Given the description of an element on the screen output the (x, y) to click on. 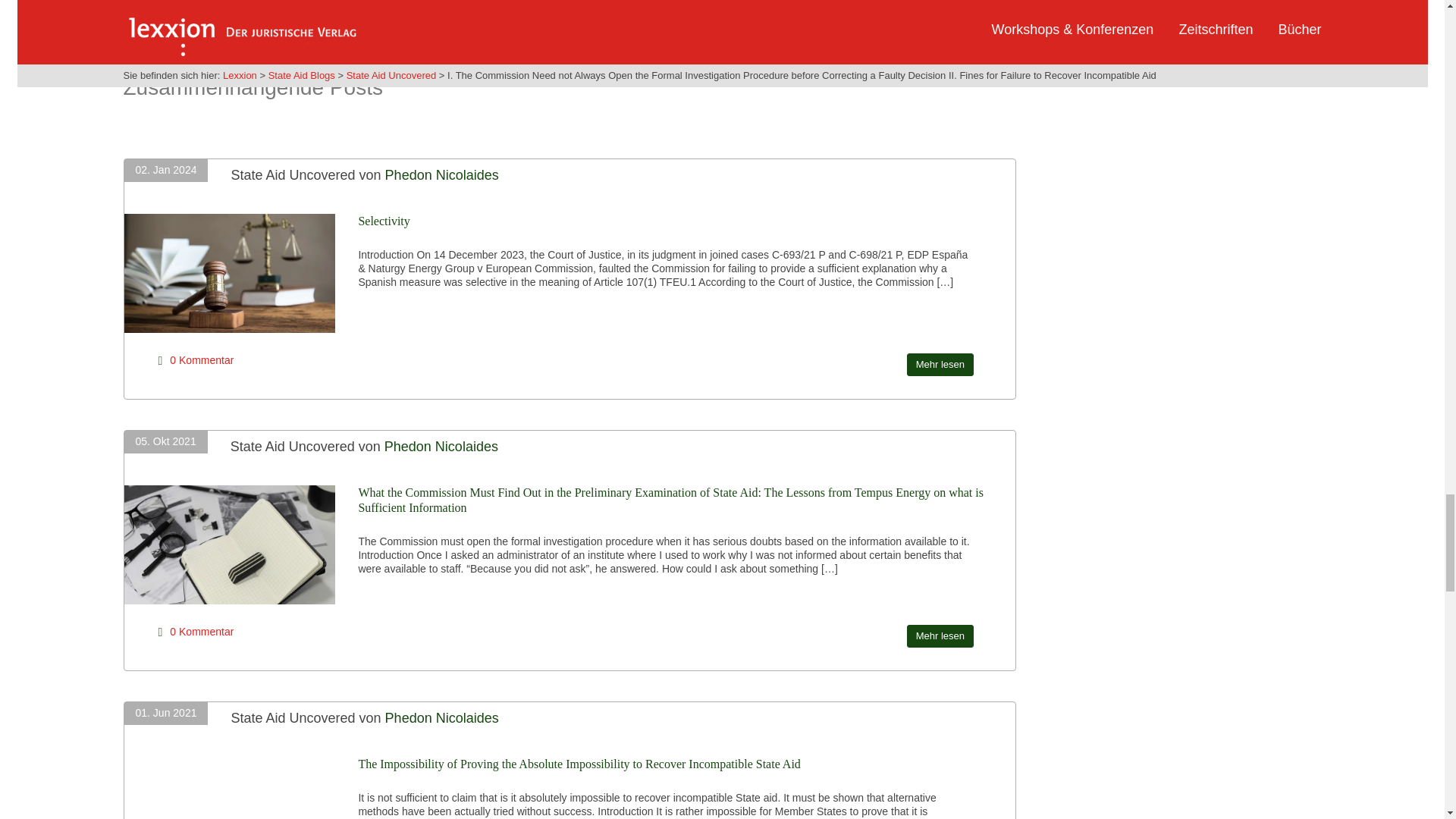
0 Kommentar (201, 359)
Selectivity 2 (234, 272)
